Given the description of an element on the screen output the (x, y) to click on. 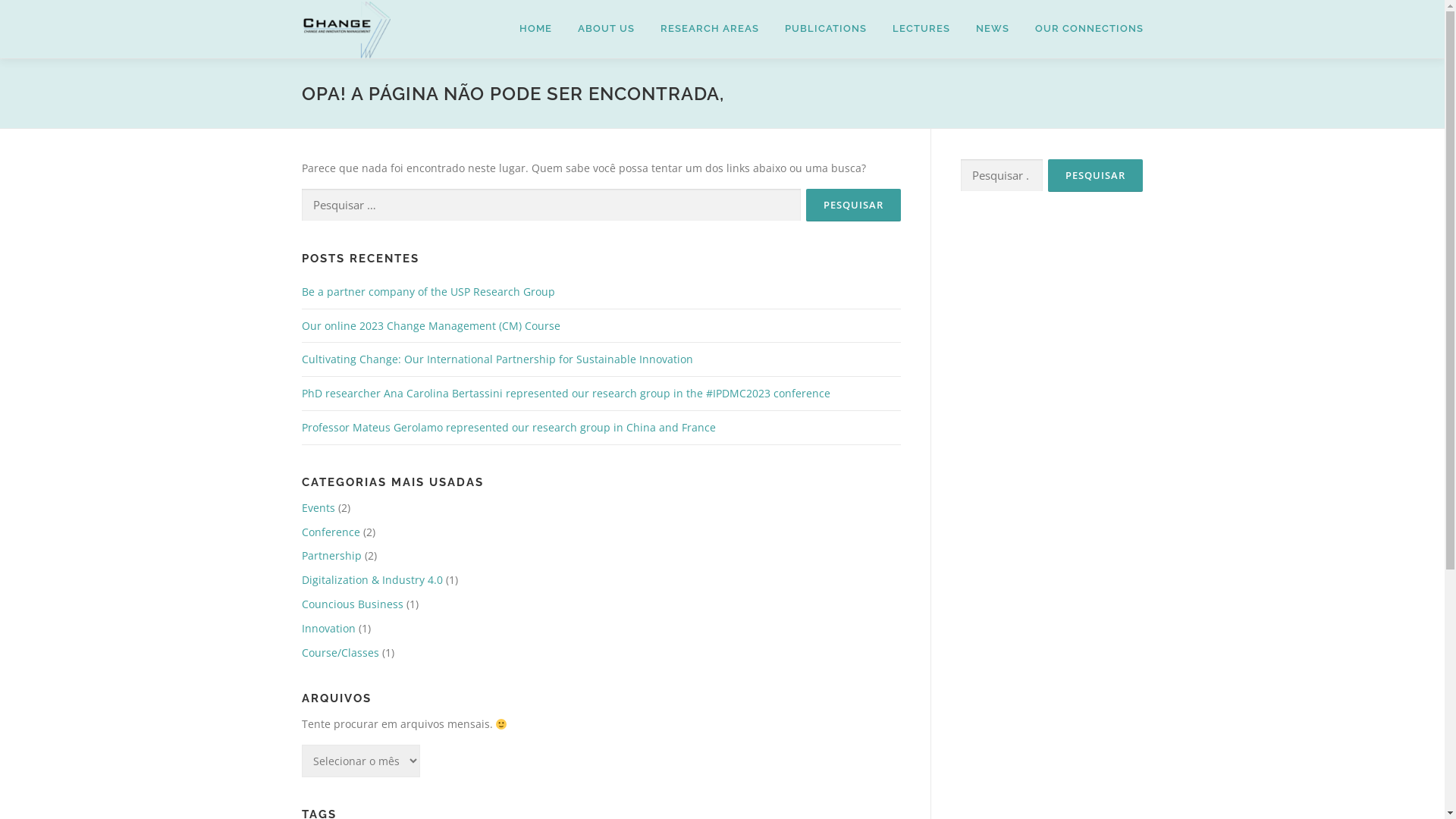
RESEARCH AREAS Element type: text (709, 28)
Pesquisar Element type: text (1095, 175)
Partnership Element type: text (331, 555)
Digitalization & Industry 4.0 Element type: text (371, 579)
HOME Element type: text (535, 28)
OUR CONNECTIONS Element type: text (1082, 28)
PUBLICATIONS Element type: text (825, 28)
Pesquisar Element type: text (852, 204)
Our online 2023 Change Management (CM) Course Element type: text (430, 325)
Conference Element type: text (330, 531)
Events Element type: text (318, 507)
Course/Classes Element type: text (340, 651)
LECTURES Element type: text (921, 28)
ABOUT US Element type: text (605, 28)
NEWS Element type: text (992, 28)
Be a partner company of the USP Research Group Element type: text (428, 291)
Innovation Element type: text (328, 628)
Councious Business Element type: text (352, 603)
